Given the description of an element on the screen output the (x, y) to click on. 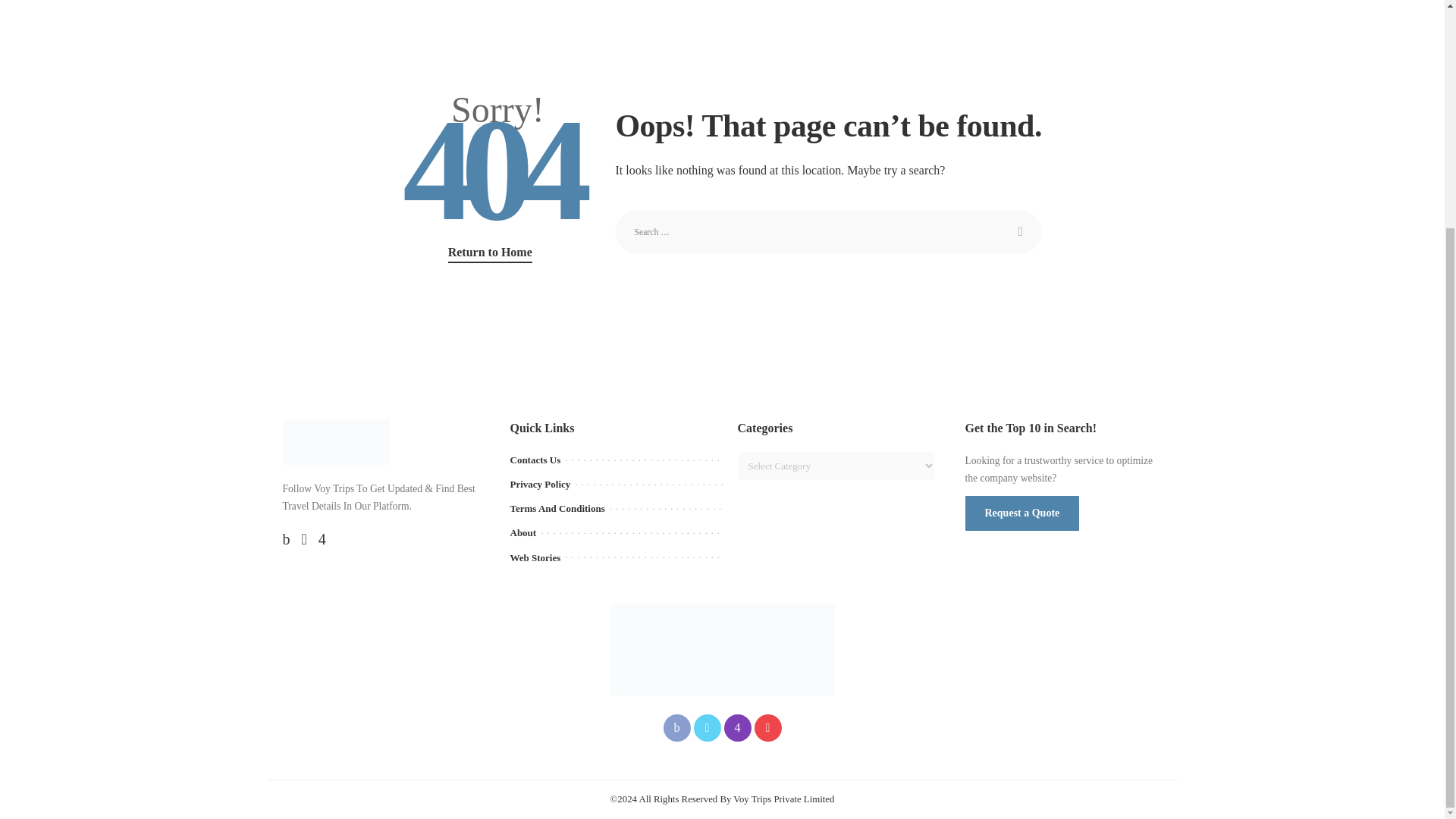
Search (1020, 231)
Search (1020, 231)
Return to Home (490, 252)
